Given the description of an element on the screen output the (x, y) to click on. 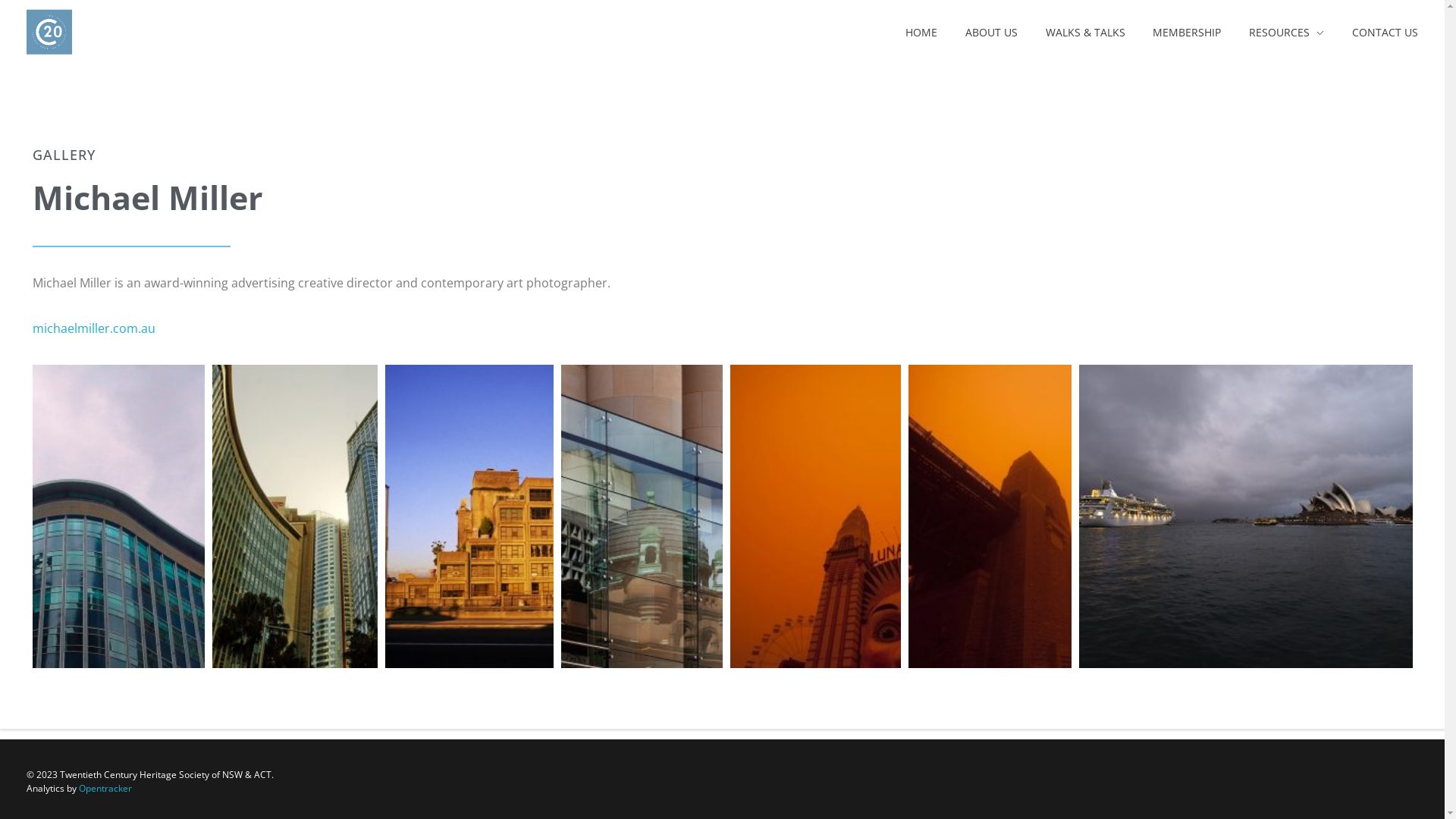
HOME Element type: text (927, 32)
the cubes Element type: hover (536, 516)
michaelmiller.com.au Element type: text (92, 328)
RESOURCES Element type: text (1286, 32)
ABOUT US Element type: text (990, 32)
Sydney Harbour Bridge Element type: hover (1059, 516)
CONTACT US Element type: text (1378, 32)
opera house Element type: hover (1245, 516)
MEMBERSHIP Element type: text (1187, 32)
Opentracker Element type: text (104, 787)
WALKS & TALKS Element type: text (1085, 32)
img-qantas-final-2 Element type: hover (183, 516)
Luna Park Element type: hover (880, 516)
Chifley Element type: hover (363, 516)
